Given the description of an element on the screen output the (x, y) to click on. 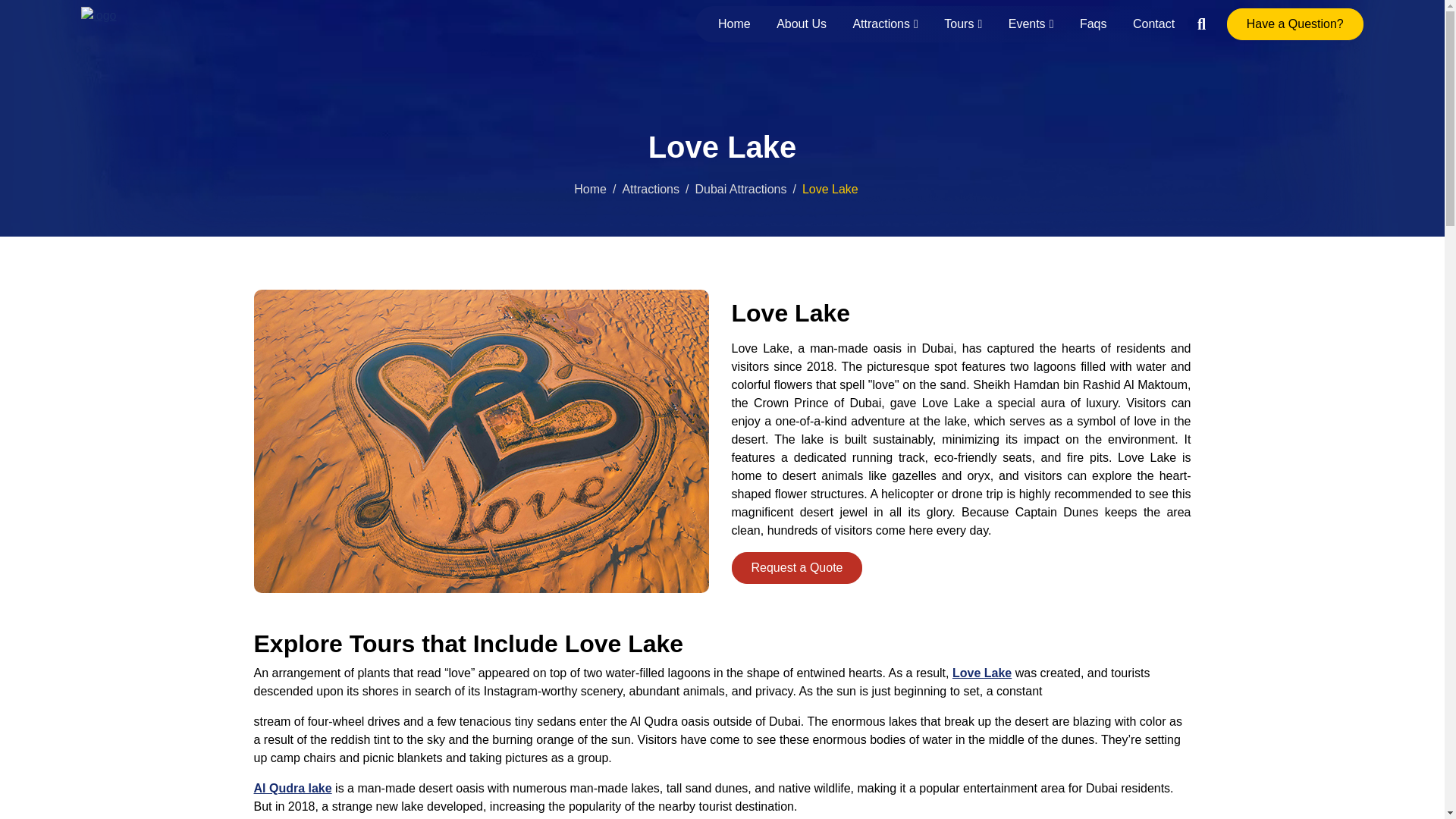
Al Qudra lake (292, 788)
Have a Question? (1294, 24)
Contact (1147, 23)
Request a Quote (795, 567)
Faqs (1093, 23)
Request a Quote (795, 567)
About Us (801, 23)
Events (1031, 23)
Love Lake (981, 672)
Go to Home. (590, 188)
